Given the description of an element on the screen output the (x, y) to click on. 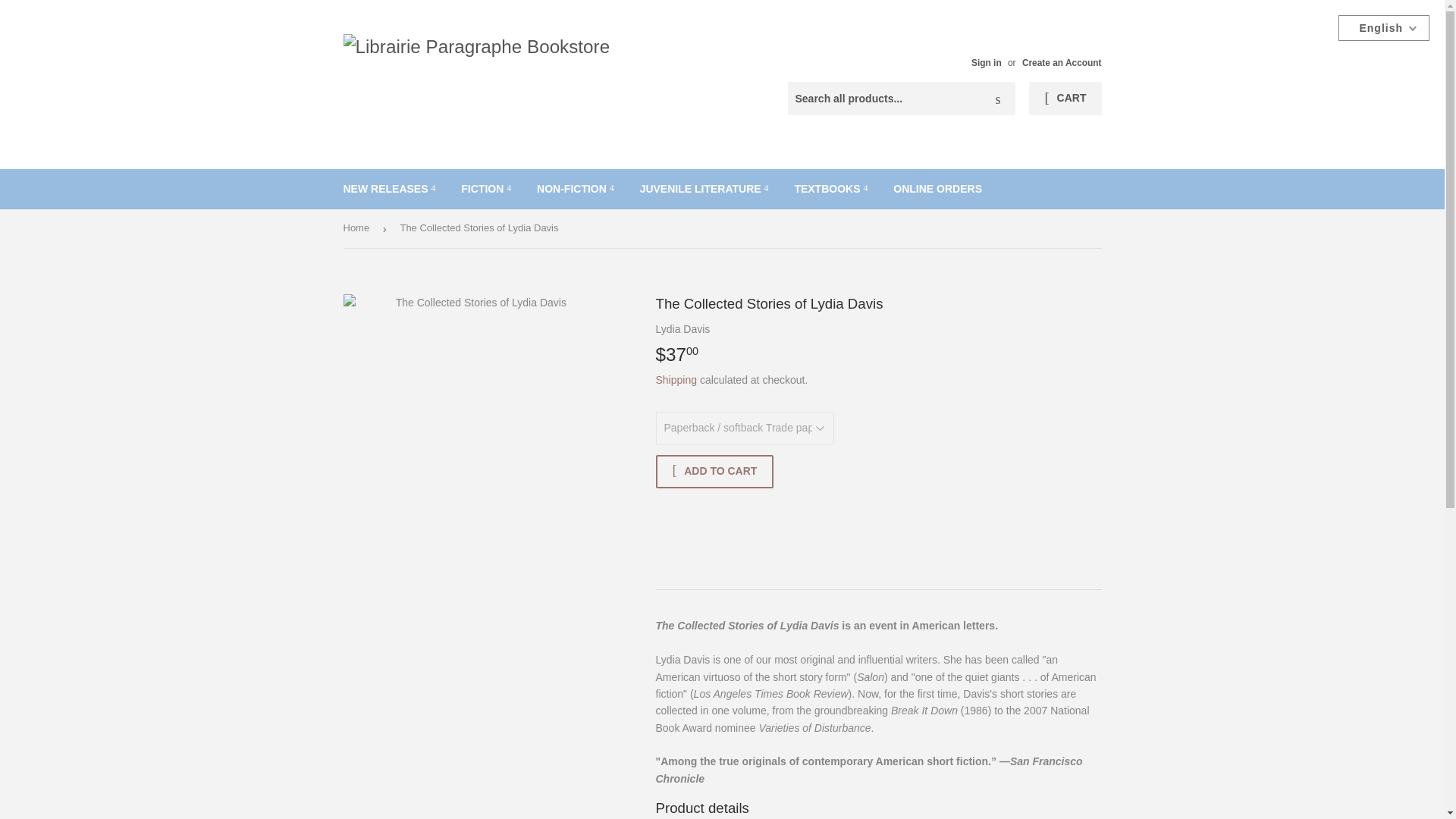
Search (997, 99)
CART (1064, 98)
Sign in (986, 62)
Create an Account (1062, 62)
